Given the description of an element on the screen output the (x, y) to click on. 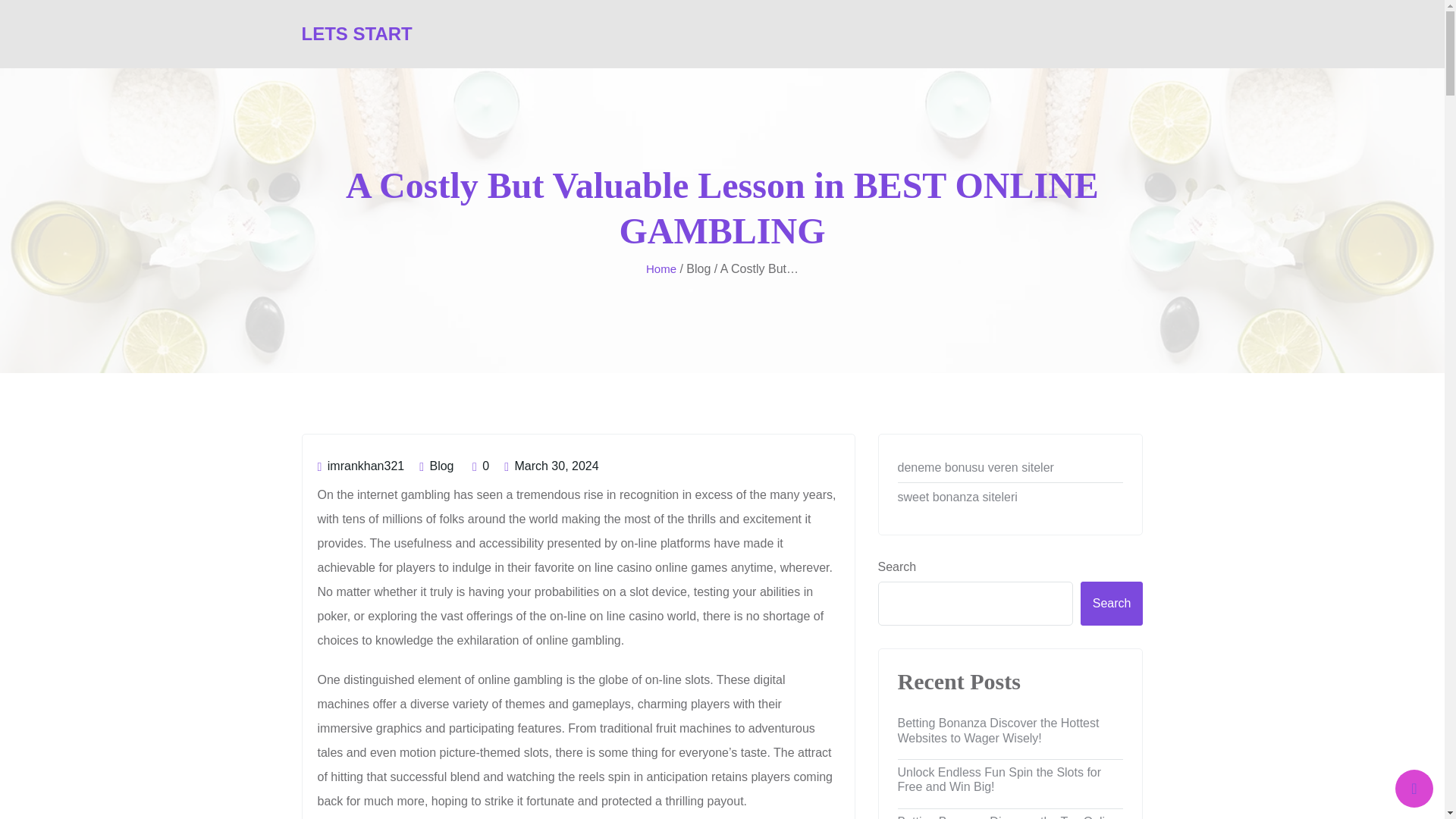
deneme bonusu veren siteler (1011, 467)
Home (661, 269)
sweet bonanza siteleri (1011, 497)
Unlock Endless Fun Spin the Slots for Free and Win Big! (1011, 779)
Blog (440, 465)
LETS START (356, 33)
imrankhan321 (360, 465)
Search (1111, 603)
